Given the description of an element on the screen output the (x, y) to click on. 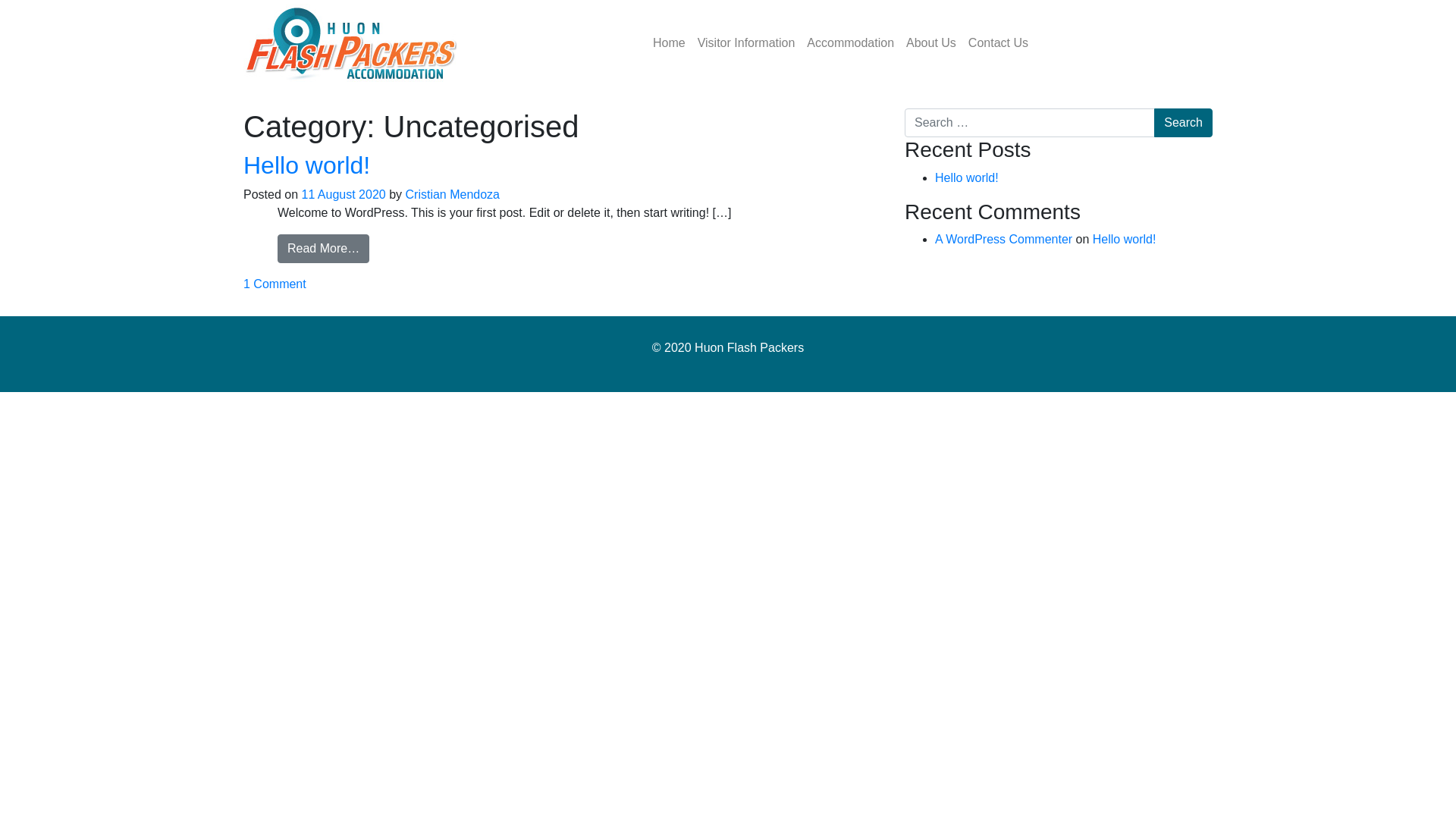
Hello world! Element type: text (966, 177)
1 Comment Element type: text (274, 283)
Hello world! Element type: text (306, 164)
11 August 2020 Element type: text (343, 194)
Contact Us Element type: text (998, 42)
About Us Element type: text (931, 42)
Accommodation Element type: text (850, 42)
Home Element type: text (668, 42)
Hello world! Element type: text (1124, 238)
Search Element type: text (1183, 122)
Visitor Information Element type: text (746, 42)
Cristian Mendoza Element type: text (452, 194)
A WordPress Commenter Element type: text (1003, 238)
